Given the description of an element on the screen output the (x, y) to click on. 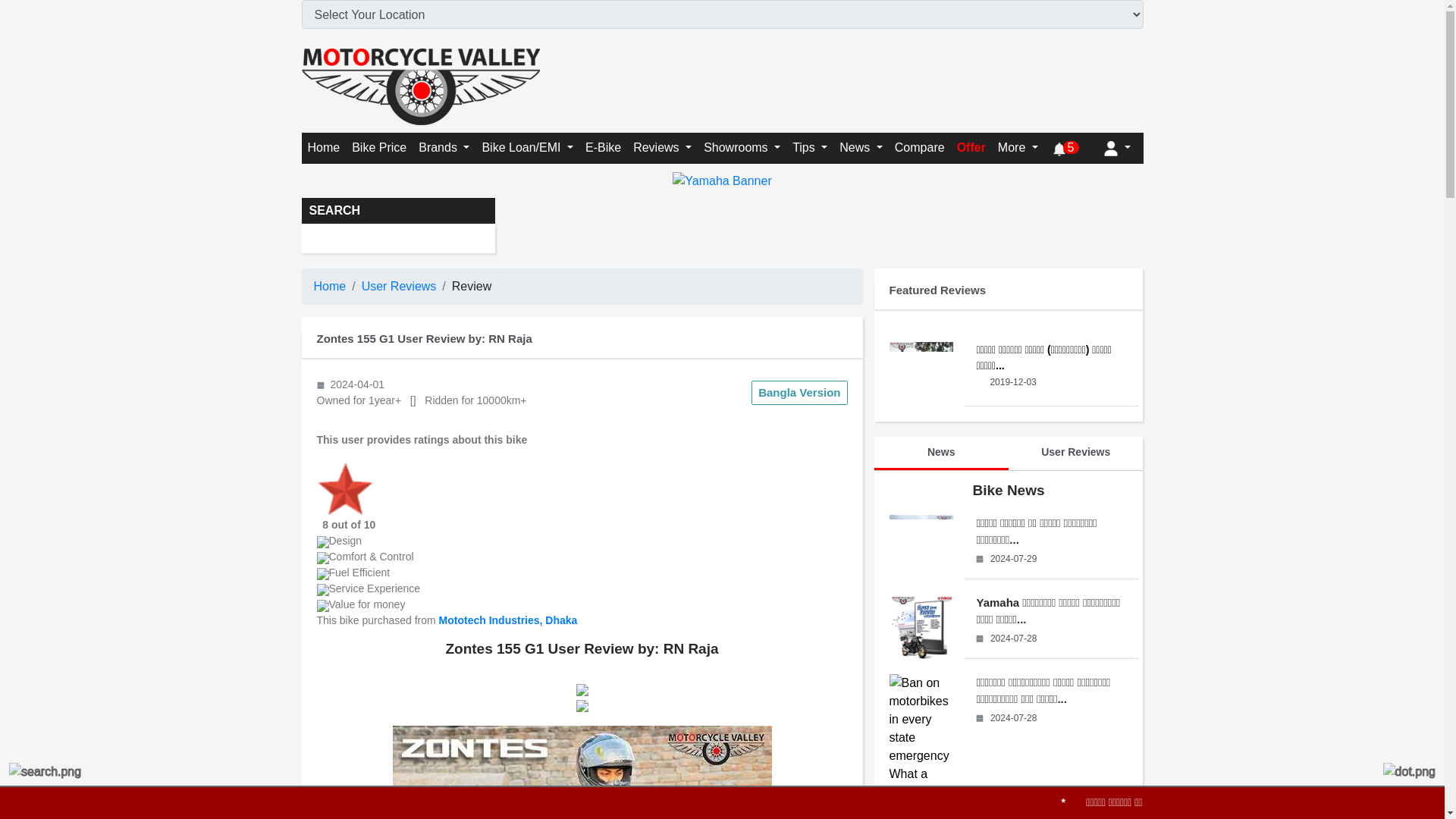
Motorcycle Valley (323, 147)
Tips (809, 147)
Motorcycle price in Bangladesh 2024 (379, 147)
Showrooms (741, 147)
Brands (444, 147)
Home (323, 147)
E-Bike (603, 147)
Reviews (662, 147)
Bike Price (379, 147)
